Given the description of an element on the screen output the (x, y) to click on. 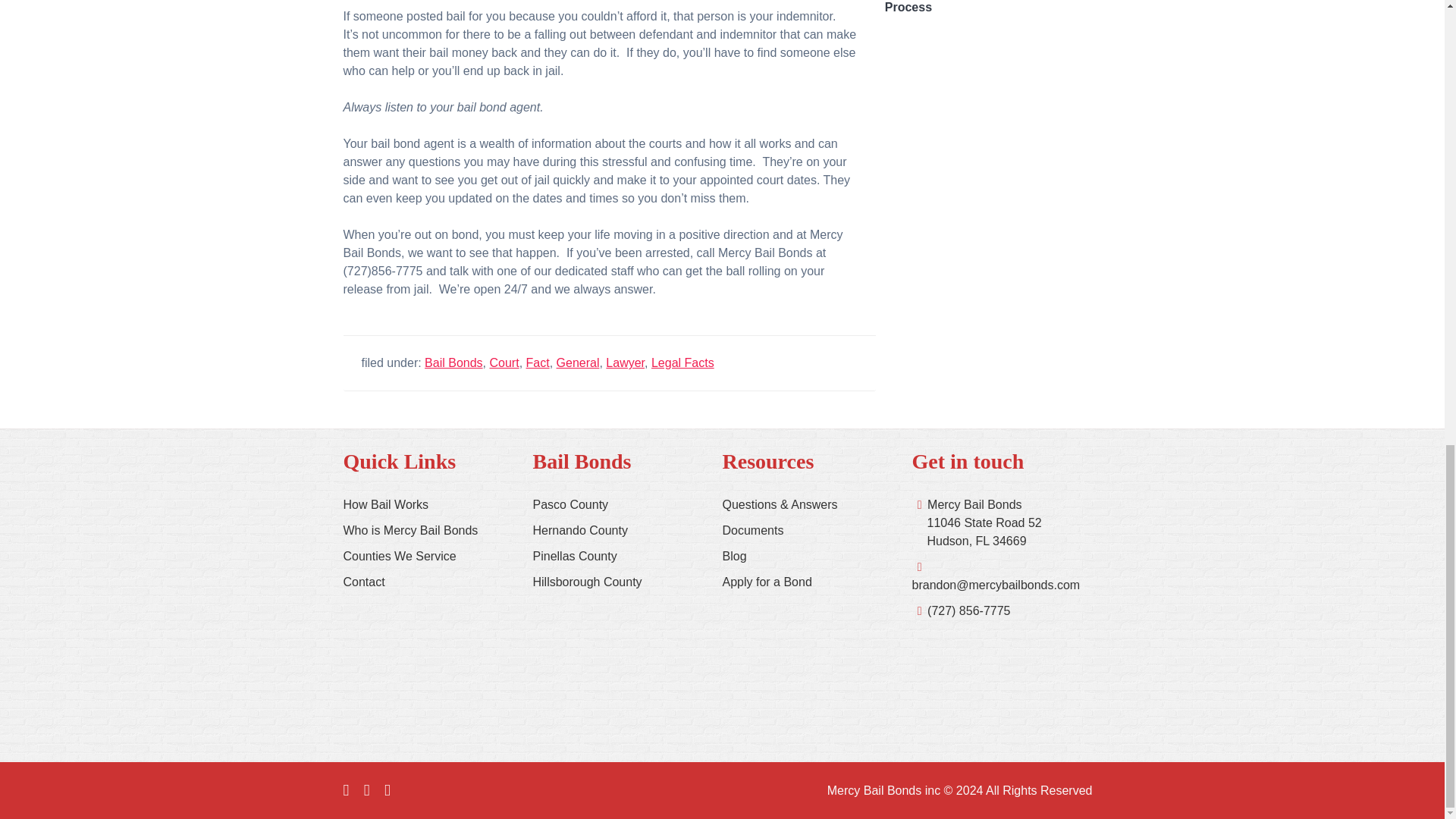
Legal Facts (682, 362)
General (577, 362)
Bail Bonds (454, 362)
Fact (537, 362)
Court (504, 362)
Lawyer (625, 362)
